Given the description of an element on the screen output the (x, y) to click on. 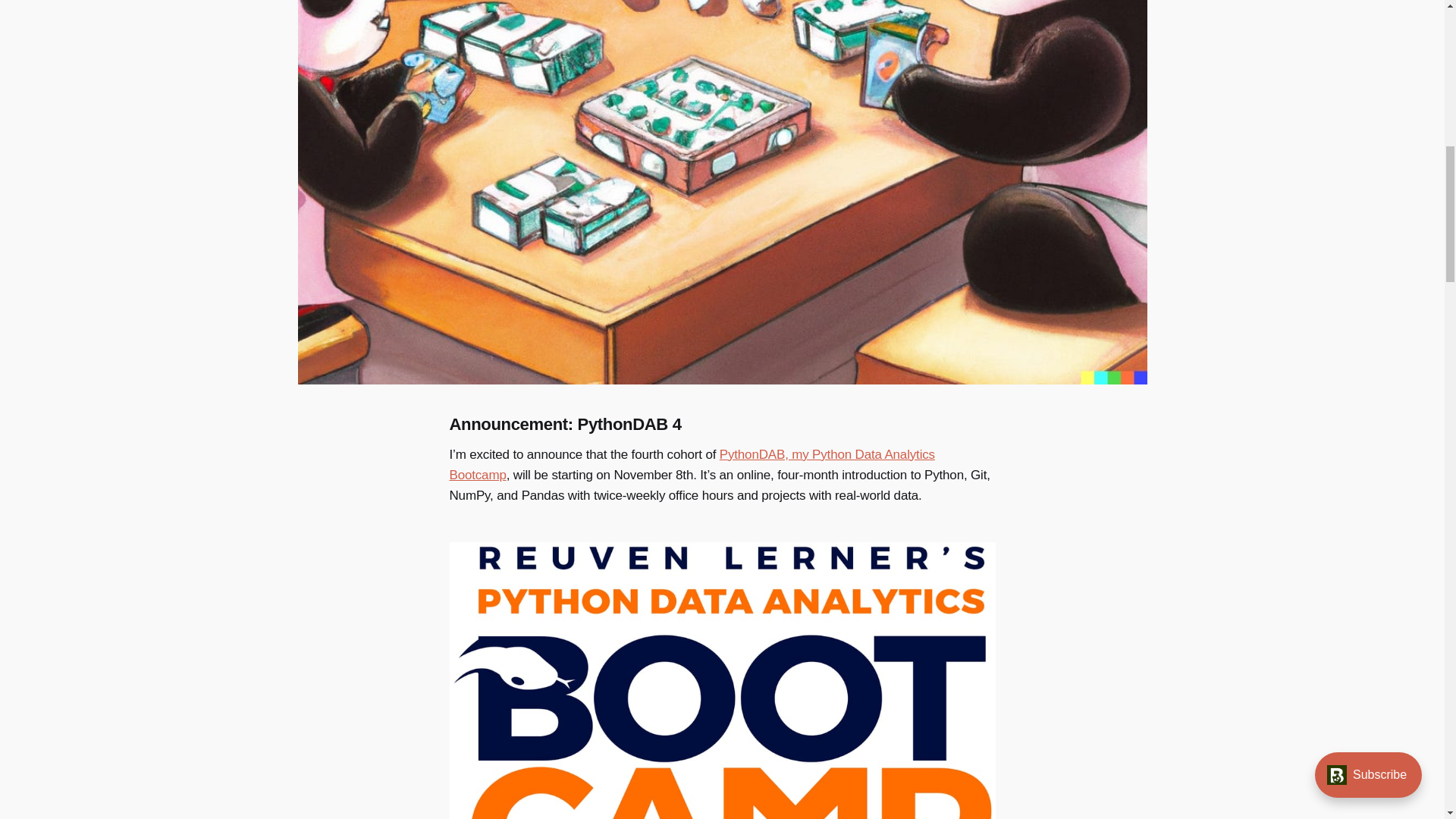
PythonDAB, my Python Data Analytics Bootcamp (691, 464)
